Given the description of an element on the screen output the (x, y) to click on. 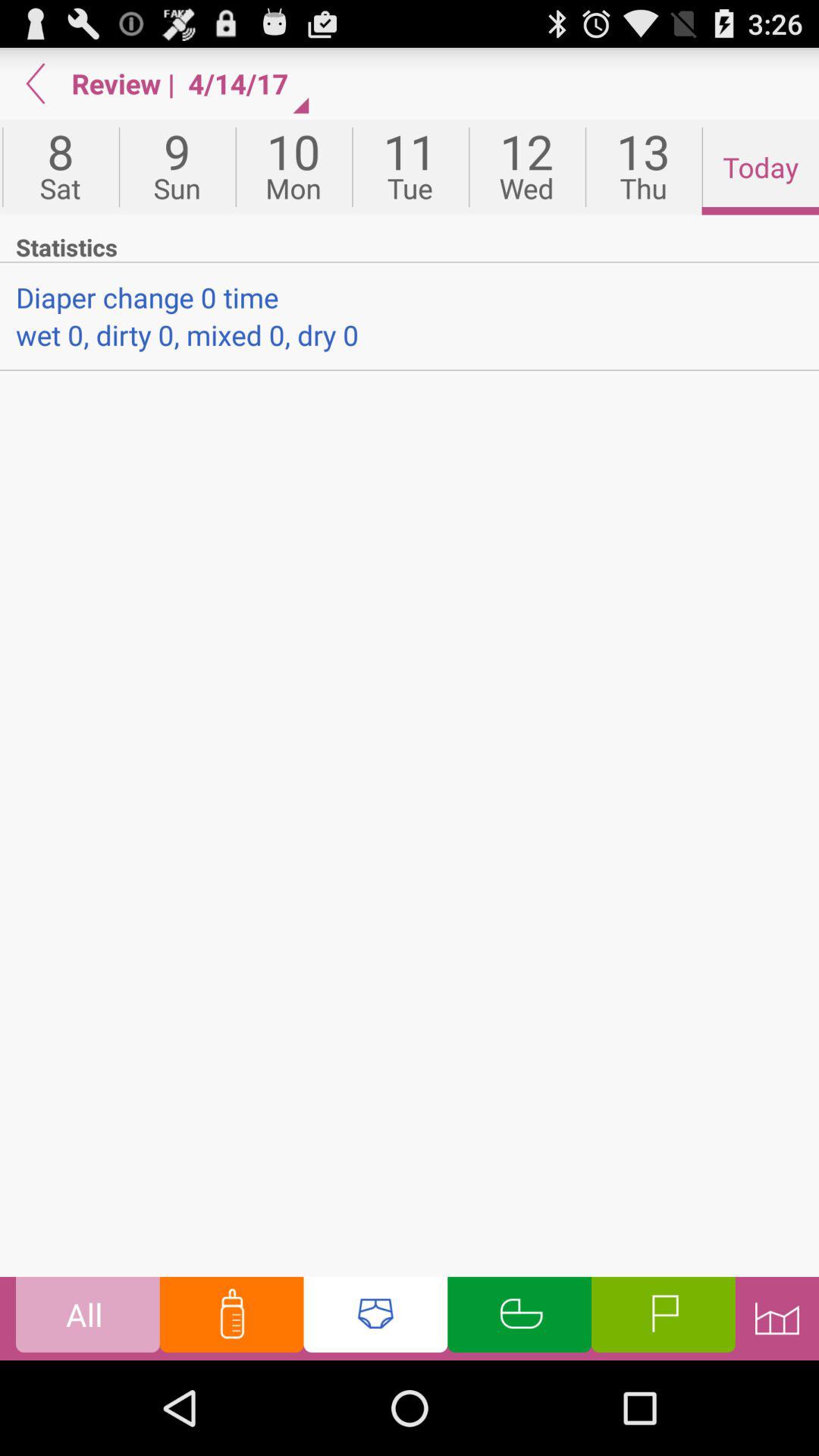
tap icon to the right of 12 (643, 166)
